Given the description of an element on the screen output the (x, y) to click on. 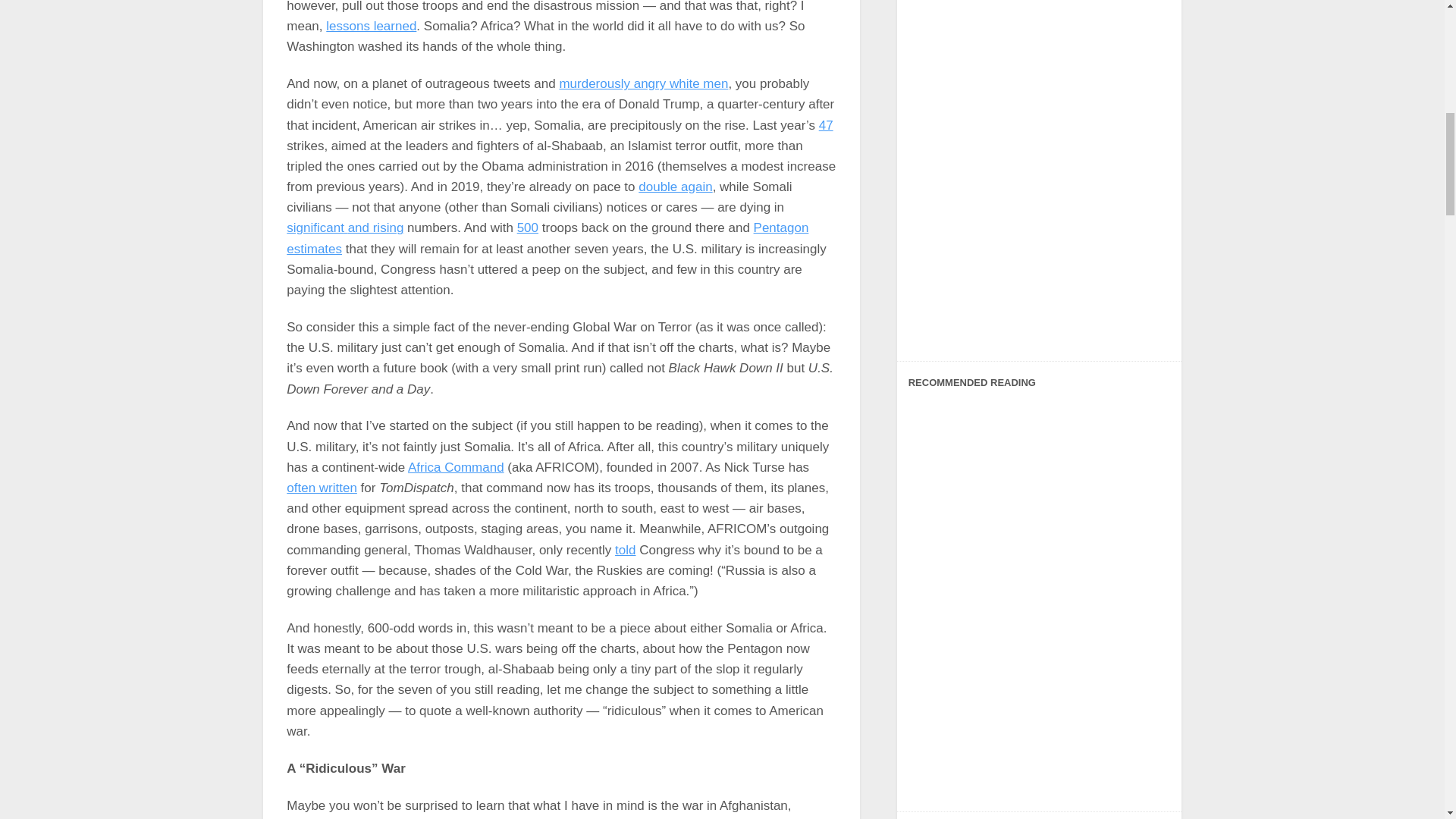
significant and rising (344, 227)
often written (321, 487)
lessons learned (371, 25)
murderously angry white men (643, 83)
Africa Command (455, 467)
Pentagon estimates (547, 237)
told (624, 549)
double again (675, 186)
47 (825, 124)
500 (527, 227)
